Given the description of an element on the screen output the (x, y) to click on. 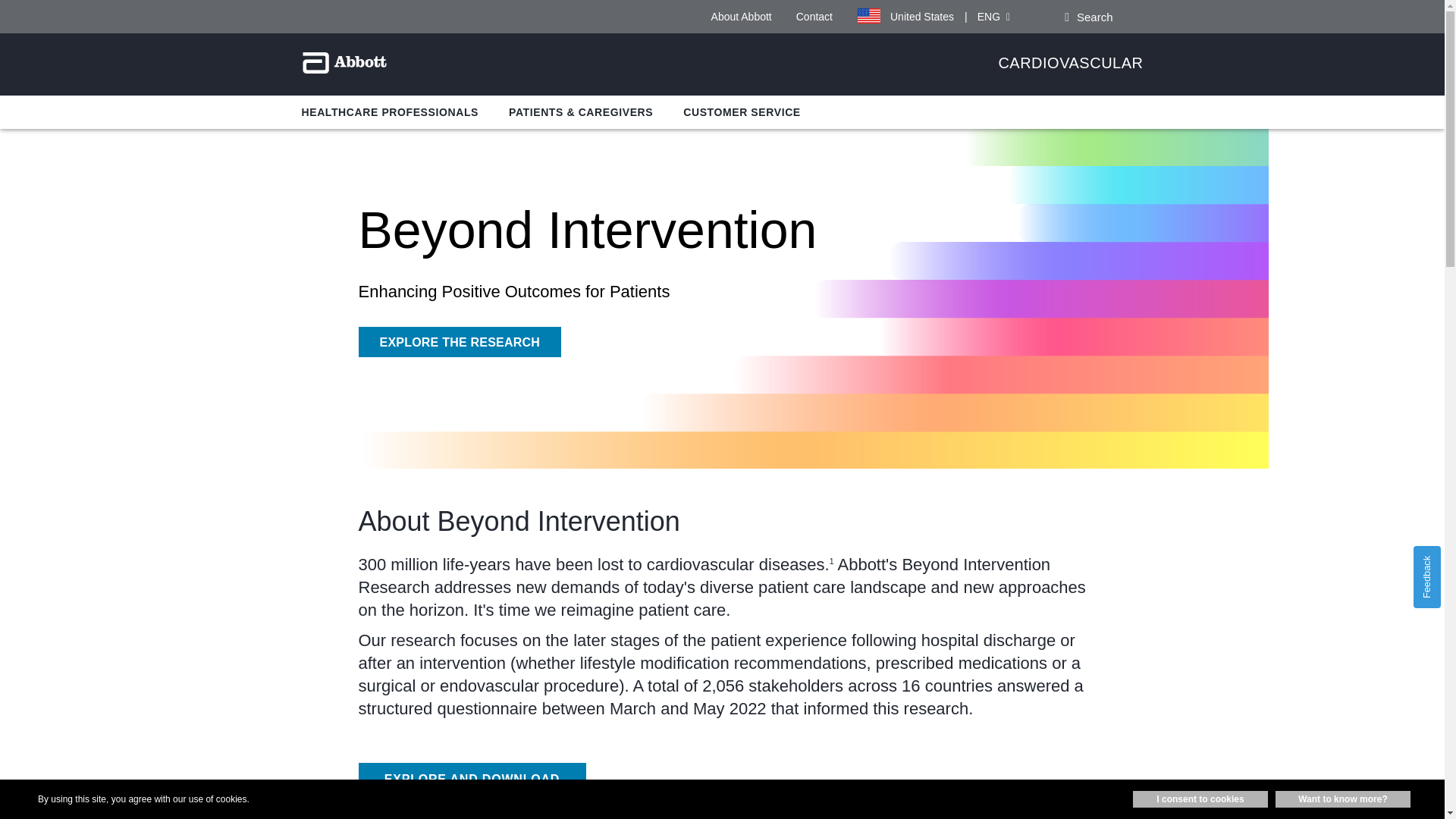
Contact (814, 16)
About Abbott (741, 16)
HEALTHCARE PROFESSIONALS (390, 111)
